Given the description of an element on the screen output the (x, y) to click on. 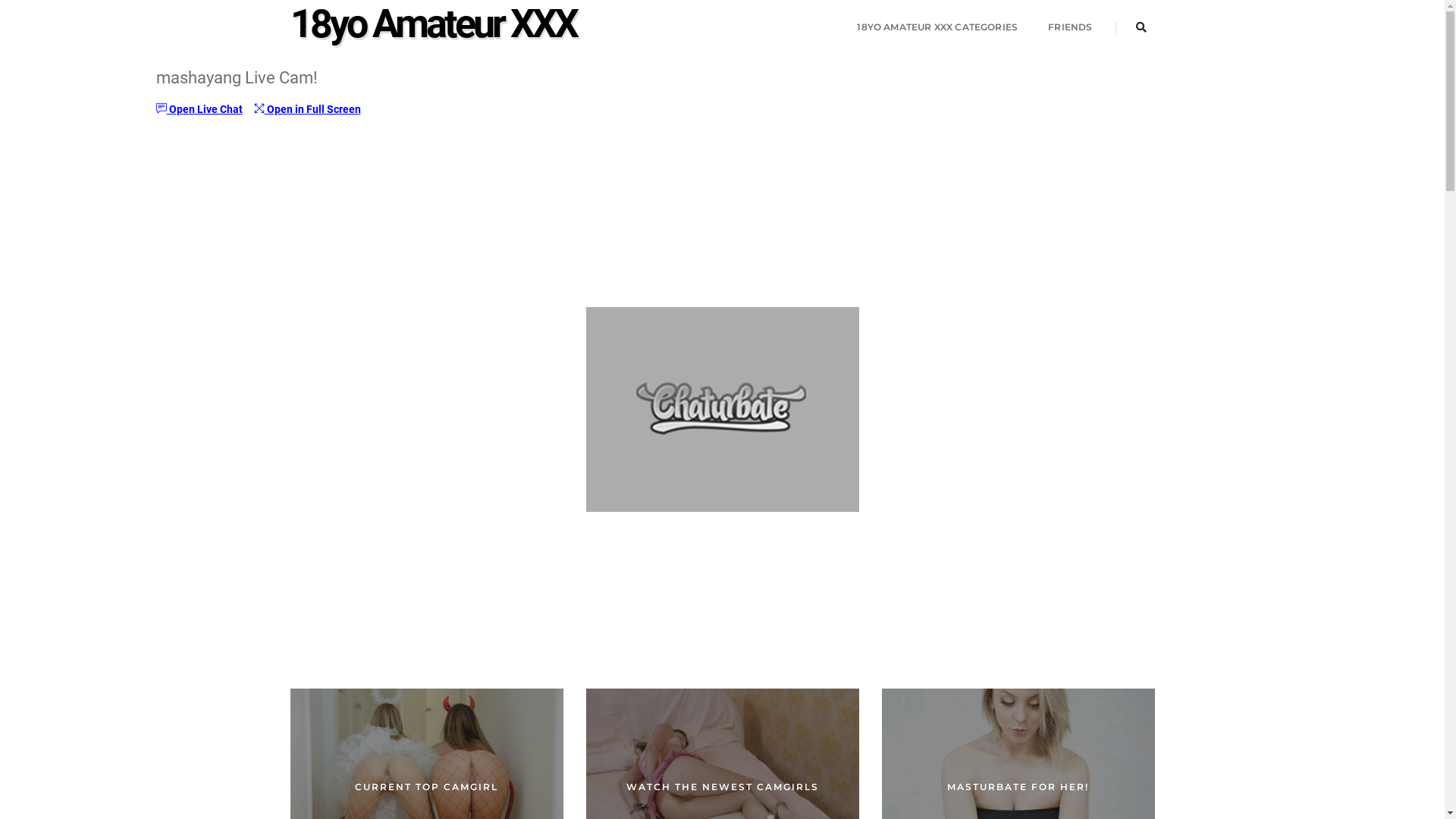
Open in Full Screen Element type: text (306, 109)
FRIENDS Element type: text (1070, 27)
18YO AMATEUR XXX CATEGORIES Element type: text (936, 27)
Open Live Chat Element type: text (199, 109)
18yo Amateur XXX Element type: text (432, 27)
